Given the description of an element on the screen output the (x, y) to click on. 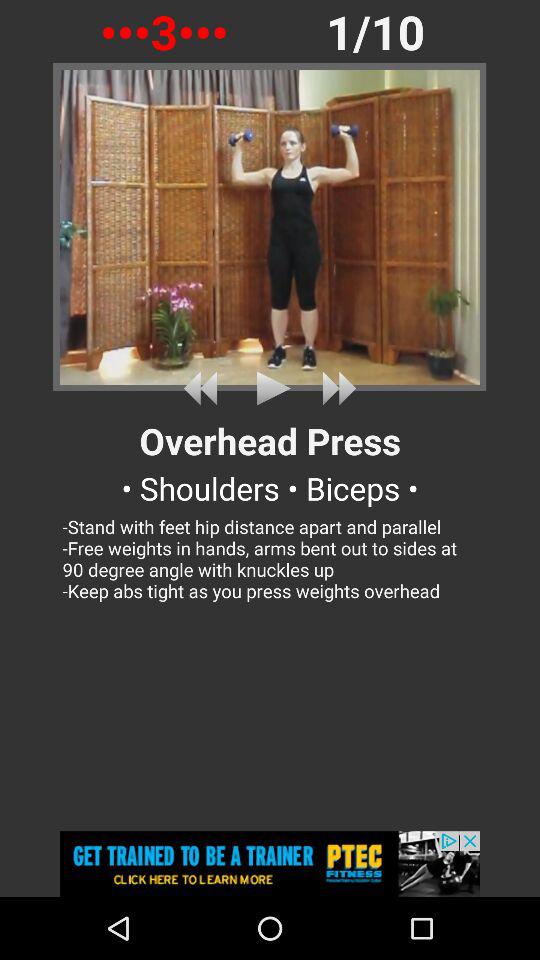
advertisements (270, 864)
